Given the description of an element on the screen output the (x, y) to click on. 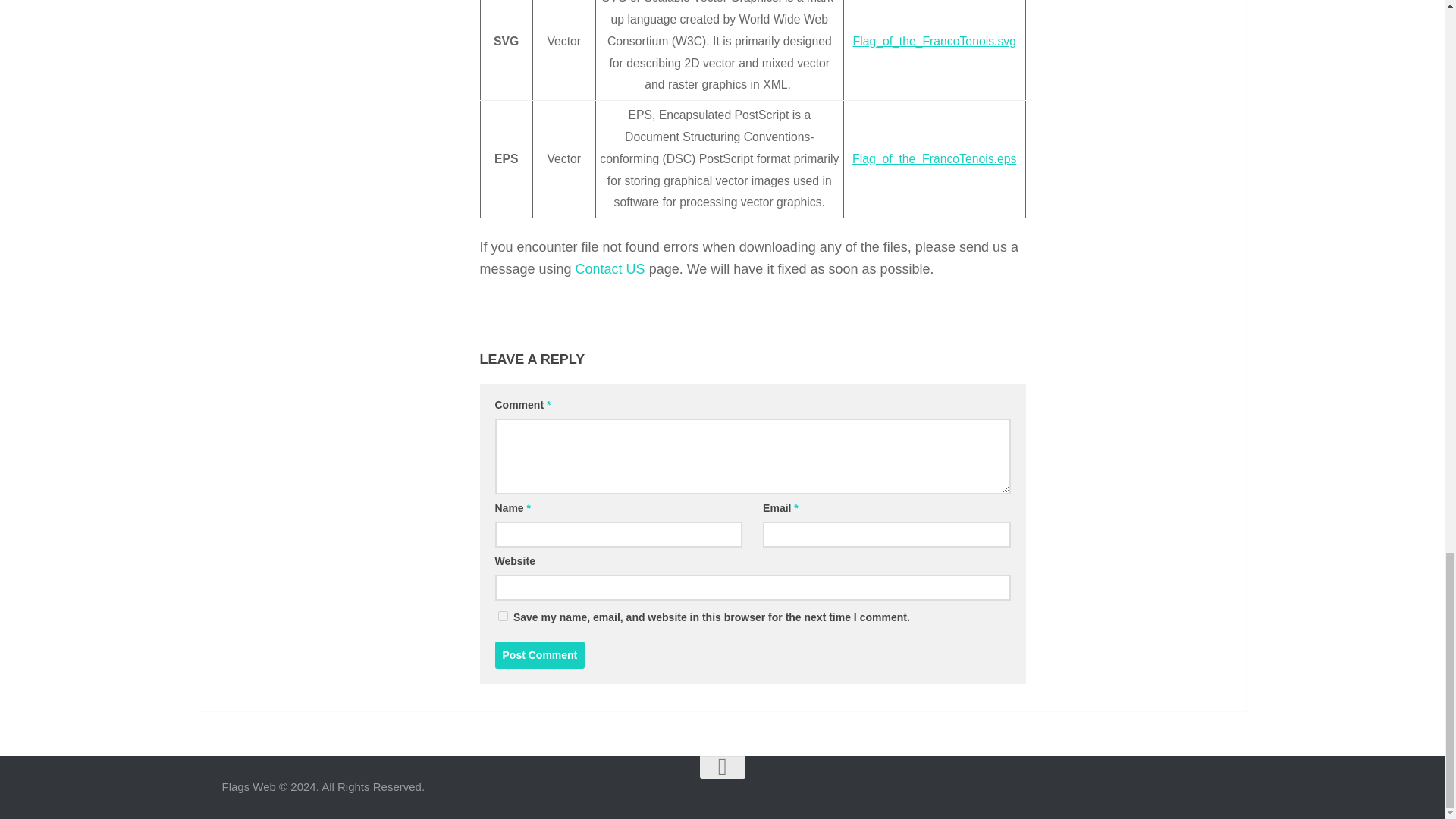
Post Comment (540, 655)
Post Comment (540, 655)
Contact US (610, 268)
yes (501, 615)
